Given the description of an element on the screen output the (x, y) to click on. 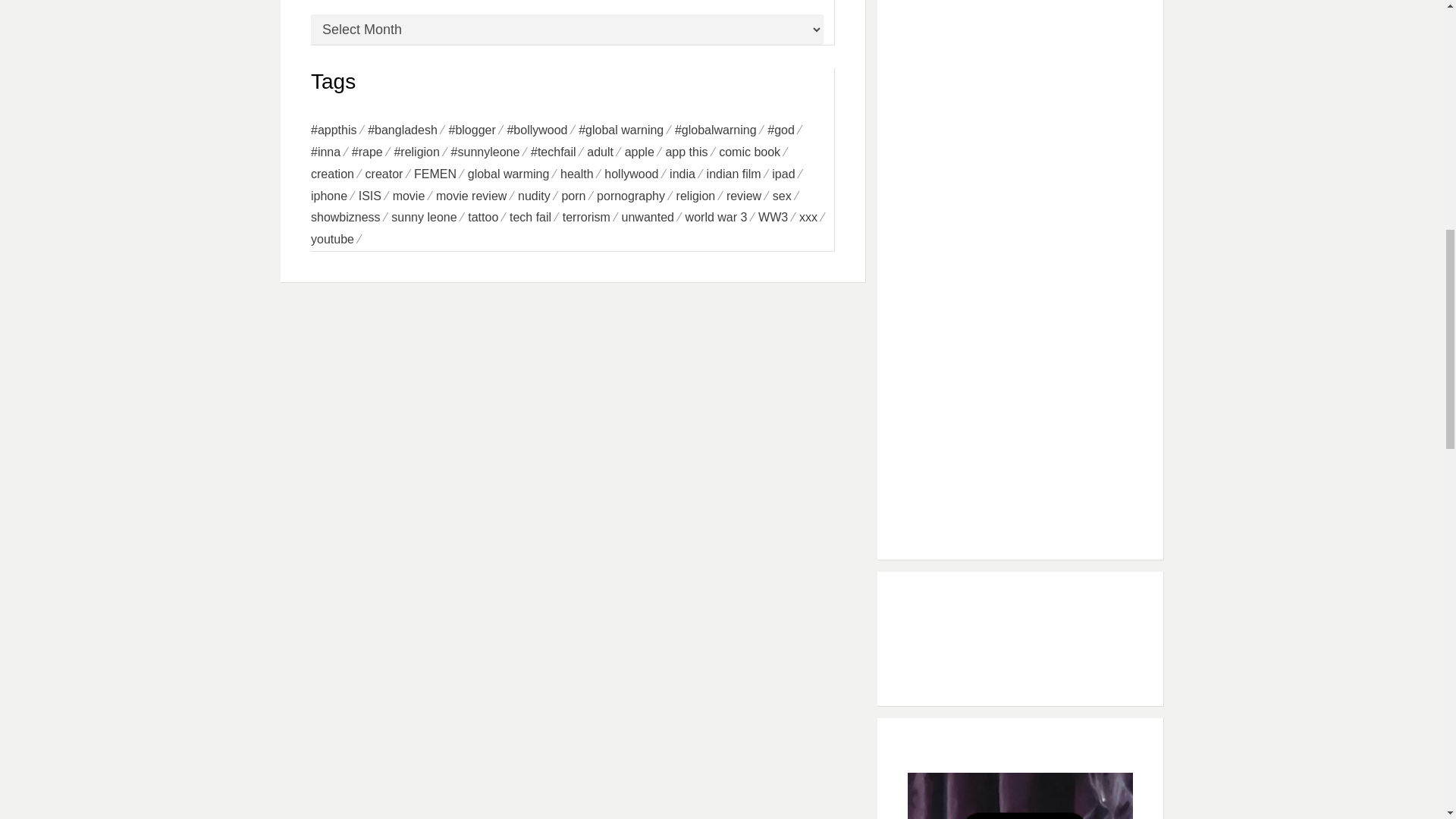
app this (692, 152)
apple (644, 152)
adult (605, 152)
creation (338, 174)
comic book (755, 152)
